Given the description of an element on the screen output the (x, y) to click on. 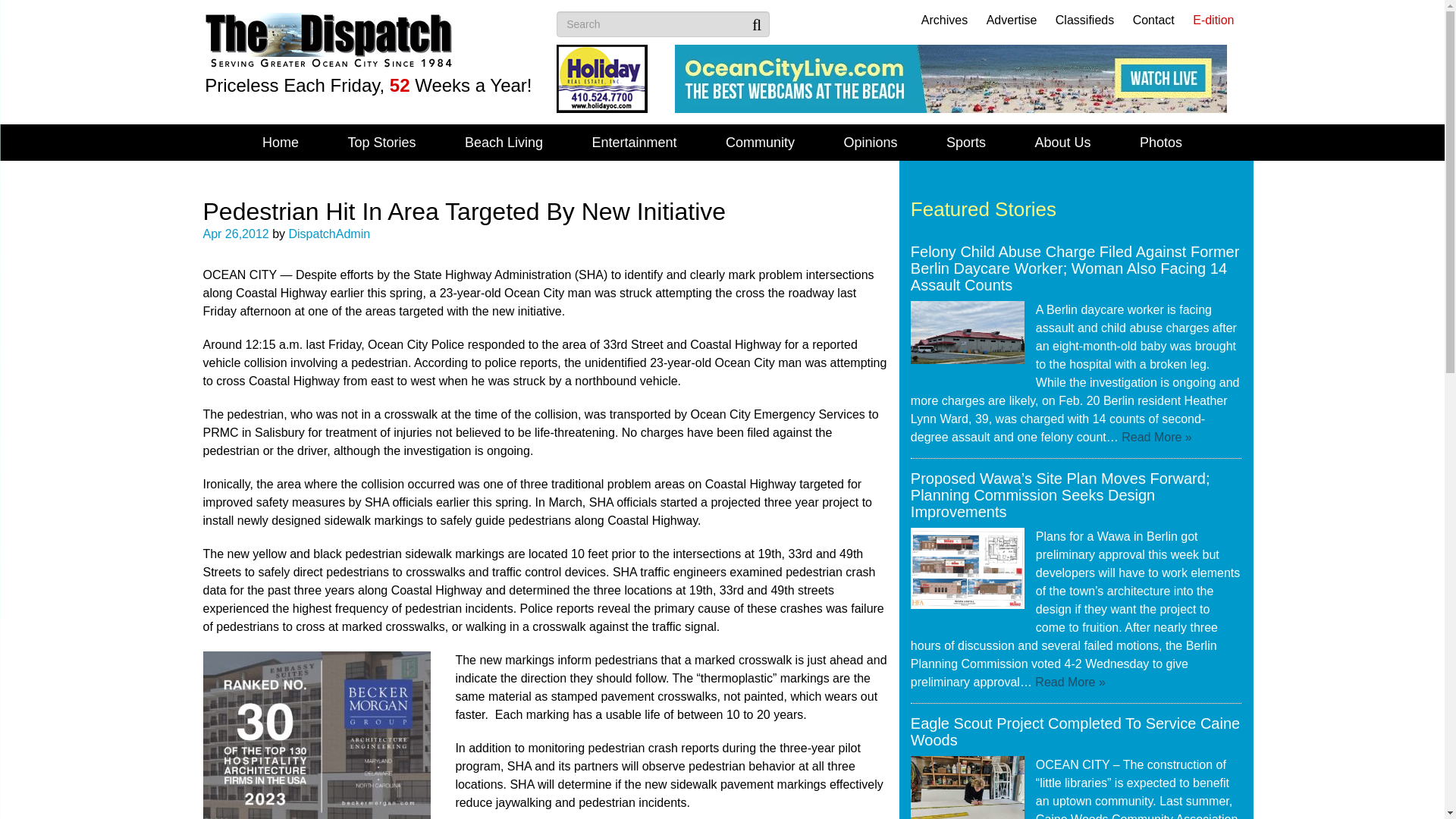
Archives (944, 20)
